Given the description of an element on the screen output the (x, y) to click on. 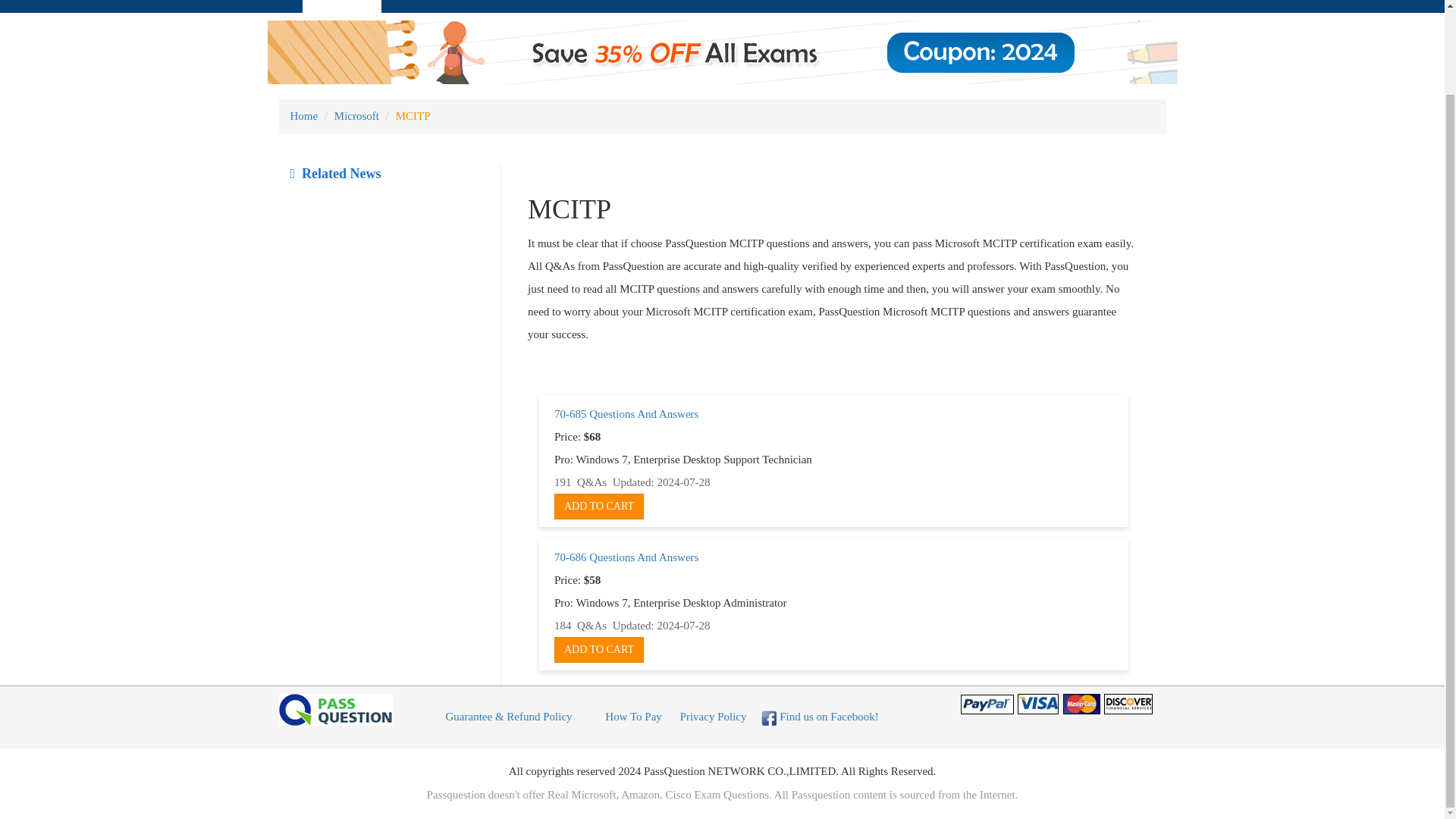
  HOME (341, 6)
ADD TO CART (598, 649)
ADD TO CART (598, 506)
70-685 Questions And Answers (626, 413)
Microsoft (356, 115)
  PROMOTION (820, 6)
  CONTACT US (938, 6)
Home (303, 115)
  GUARANTEE (593, 6)
  CERTIFICATIONS (457, 6)
70-686 Questions And Answers (626, 557)
  SOFTWARE (706, 6)
